Given the description of an element on the screen output the (x, y) to click on. 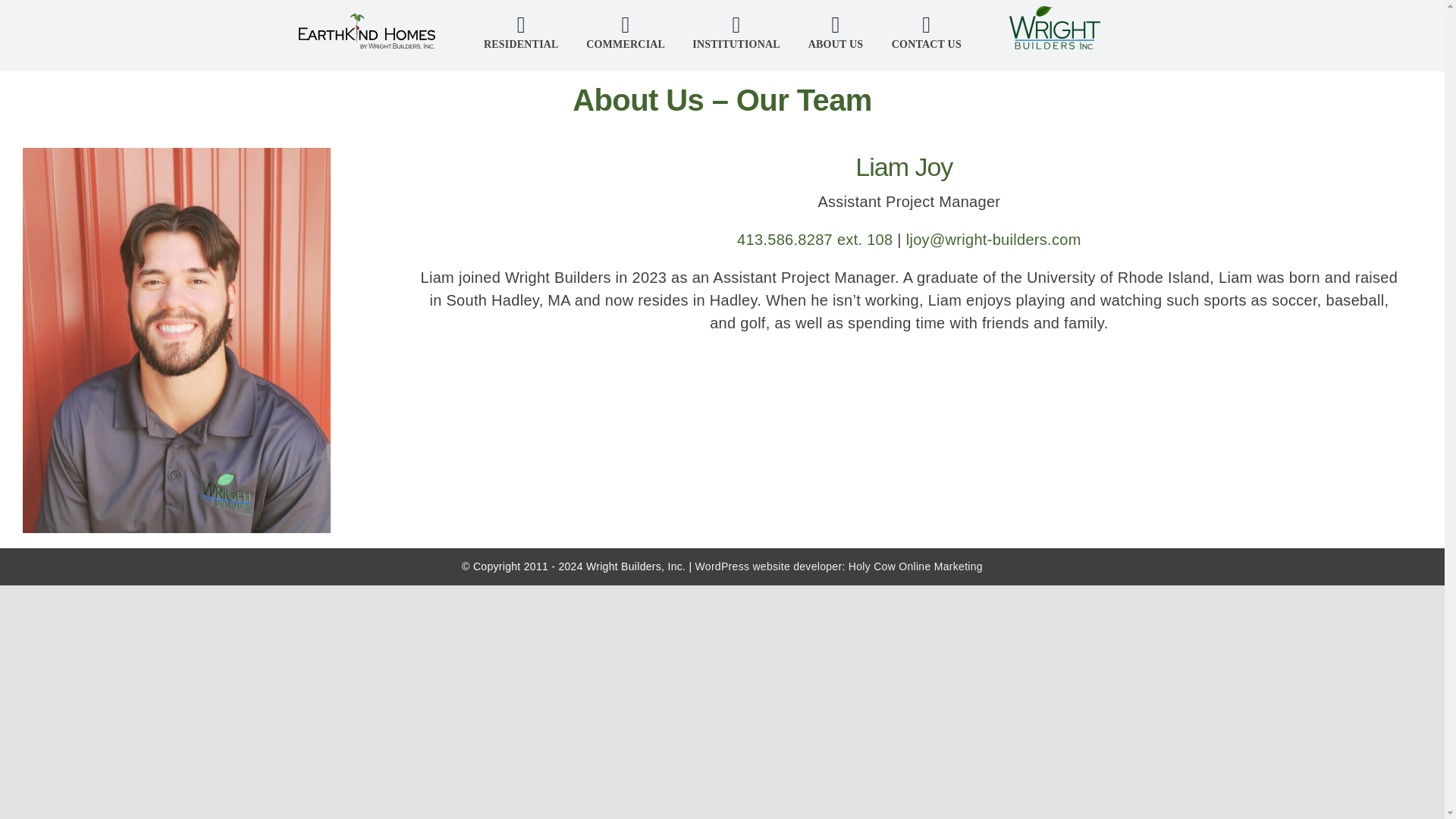
CONTACT US (925, 32)
Holy Cow Online Marketing (915, 566)
Liam Joy (176, 340)
INSTITUTIONAL (735, 32)
COMMERCIAL (625, 32)
RESIDENTIAL (521, 32)
ABOUT US (835, 32)
WordPress website developer (769, 566)
413.586.8287 ext. 10 (809, 239)
